Given the description of an element on the screen output the (x, y) to click on. 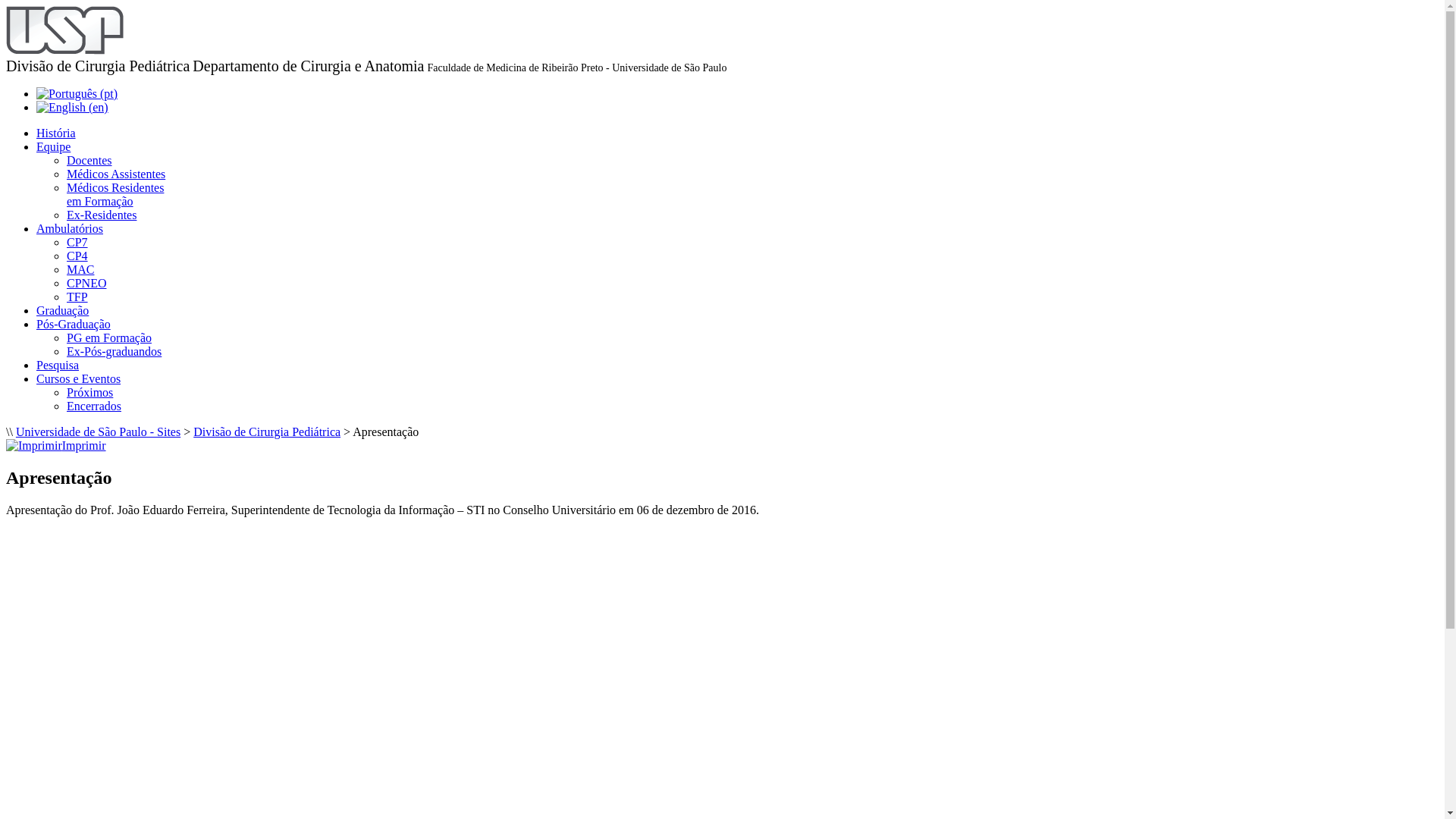
CPNEO Element type: text (86, 282)
Cursos e Eventos Element type: text (78, 378)
Pesquisa Element type: text (57, 364)
CP7 Element type: text (76, 241)
TFP Element type: text (76, 296)
MAC Element type: text (80, 269)
Equipe Element type: text (53, 146)
CP4 Element type: text (76, 255)
Imprimir Element type: text (56, 445)
English (en) Element type: hover (72, 106)
Ex-Residentes Element type: text (101, 214)
Encerrados Element type: text (93, 405)
Docentes Element type: text (89, 159)
